Given the description of an element on the screen output the (x, y) to click on. 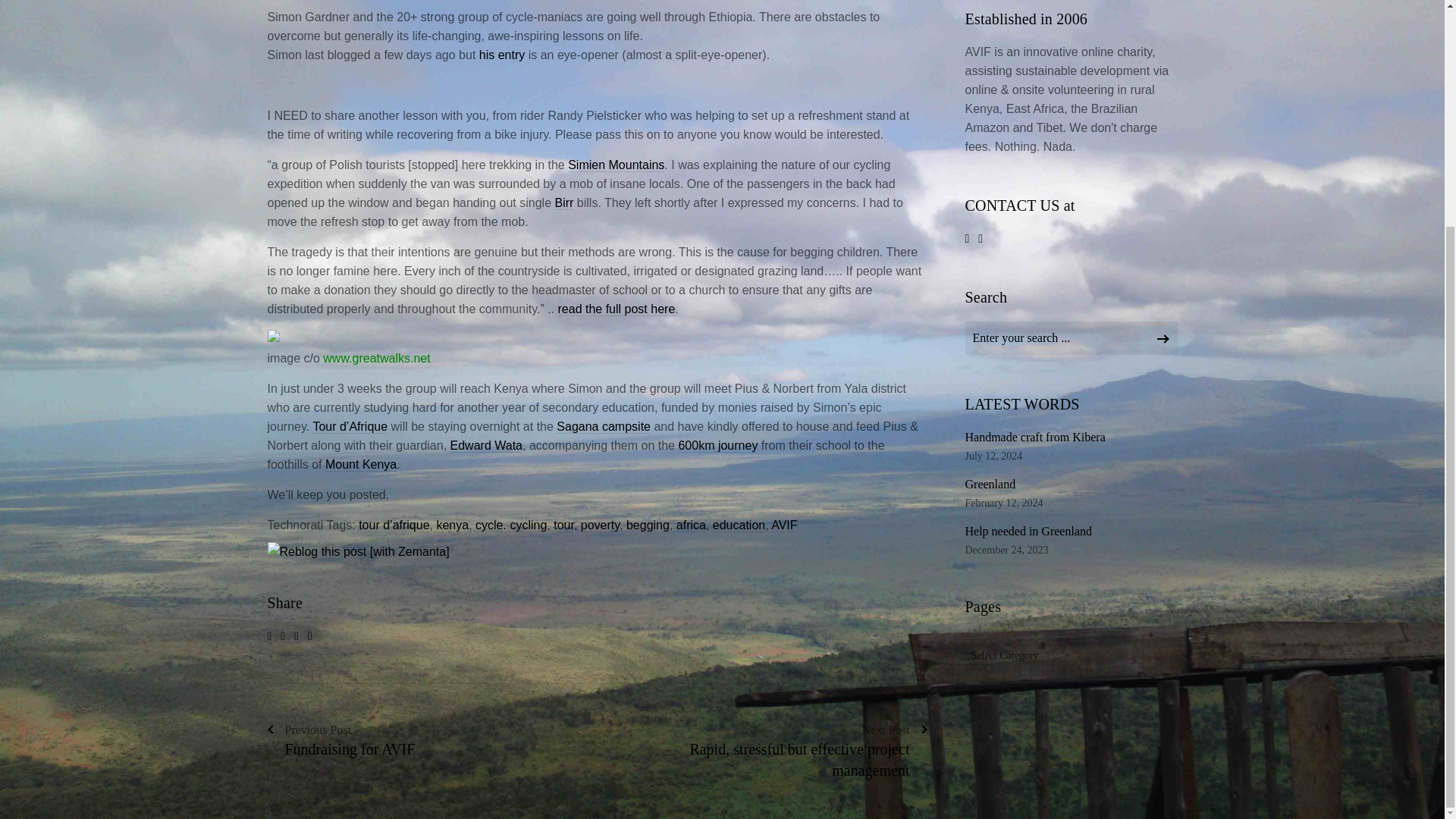
Next Post (812, 751)
AVIF (783, 525)
kenya (451, 525)
Mount Kenya (360, 464)
Zemified by Zemanta (357, 551)
Mount Kenya (360, 464)
begging (647, 525)
Simien Mountains (615, 164)
Search (1161, 336)
education (739, 525)
